Given the description of an element on the screen output the (x, y) to click on. 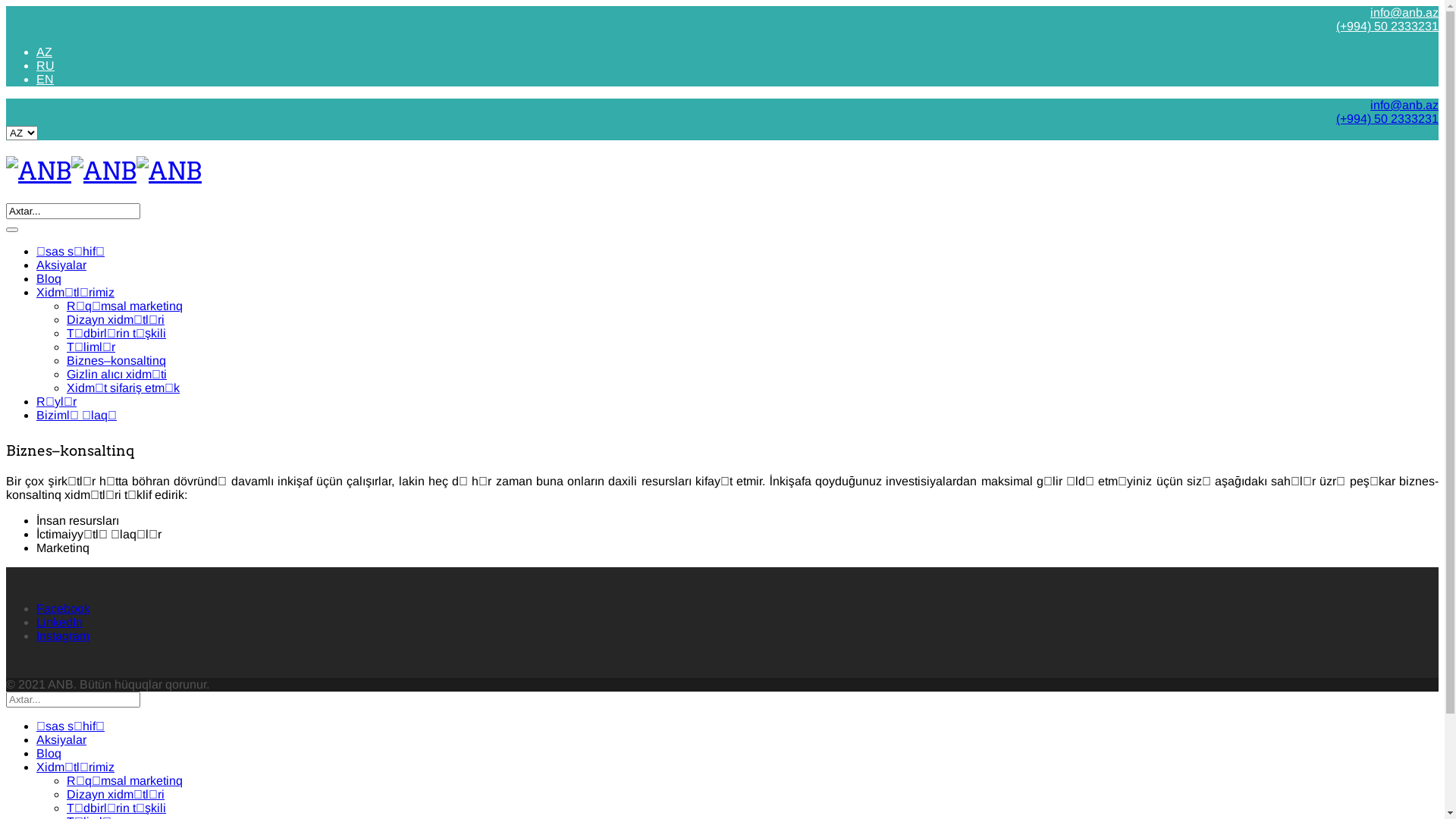
info@anb.az Element type: text (1404, 104)
    AZ
    RU
    EN
   Element type: text (722, 132)
Bloq Element type: text (48, 752)
Aksiyalar Element type: text (61, 264)
AZ Element type: text (44, 51)
Aksiyalar Element type: text (61, 739)
LinkedIn Element type: text (59, 621)
(+994) 50 2333231 Element type: text (1387, 25)
Bloq Element type: text (48, 278)
EN Element type: text (44, 78)
info@anb.az Element type: text (1404, 12)
Facebook Element type: text (63, 608)
(+994) 50 2333231 Element type: text (1387, 118)
Axtar Element type: text (12, 229)
Instagram Element type: text (62, 635)
RU Element type: text (45, 65)
